Given the description of an element on the screen output the (x, y) to click on. 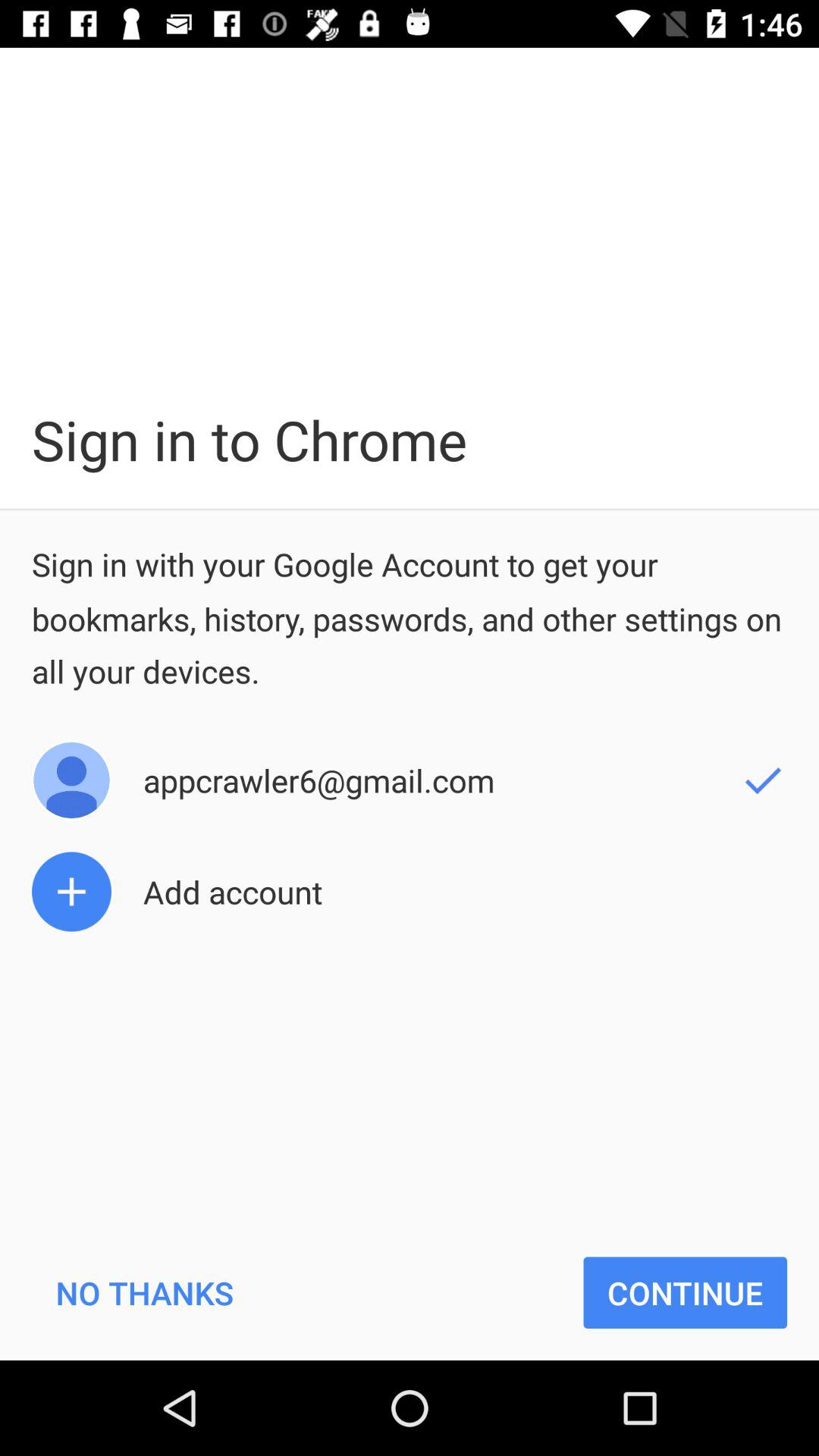
turn on no thanks at the bottom left corner (144, 1292)
